Given the description of an element on the screen output the (x, y) to click on. 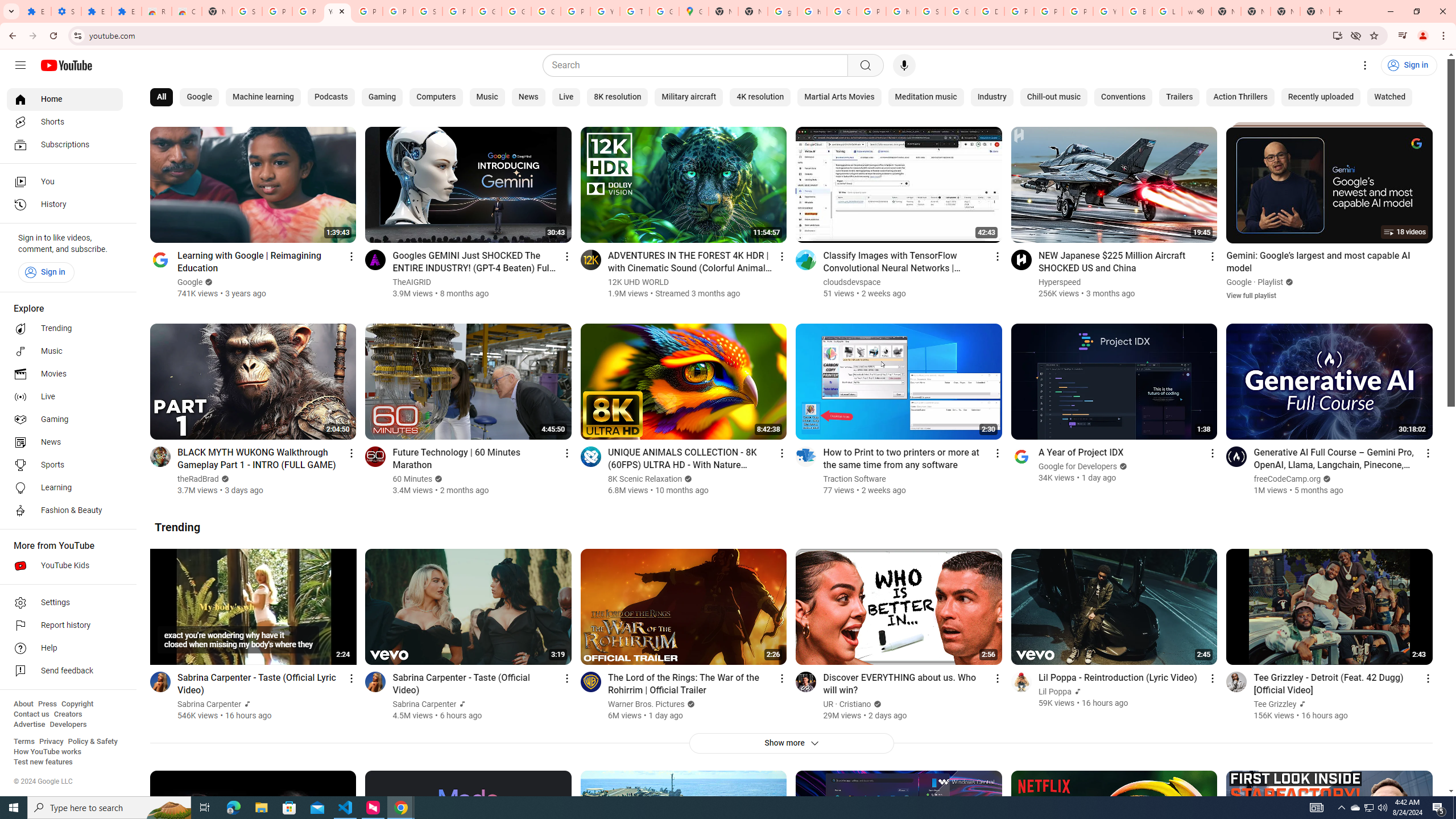
Martial Arts Movies (838, 97)
Recently uploaded (1321, 97)
Playlist (1270, 282)
Home (64, 99)
Privacy Help Center - Policies Help (1018, 11)
Traction Software (854, 478)
Podcasts (331, 97)
Show more (790, 742)
8K resolution (616, 97)
